Given the description of an element on the screen output the (x, y) to click on. 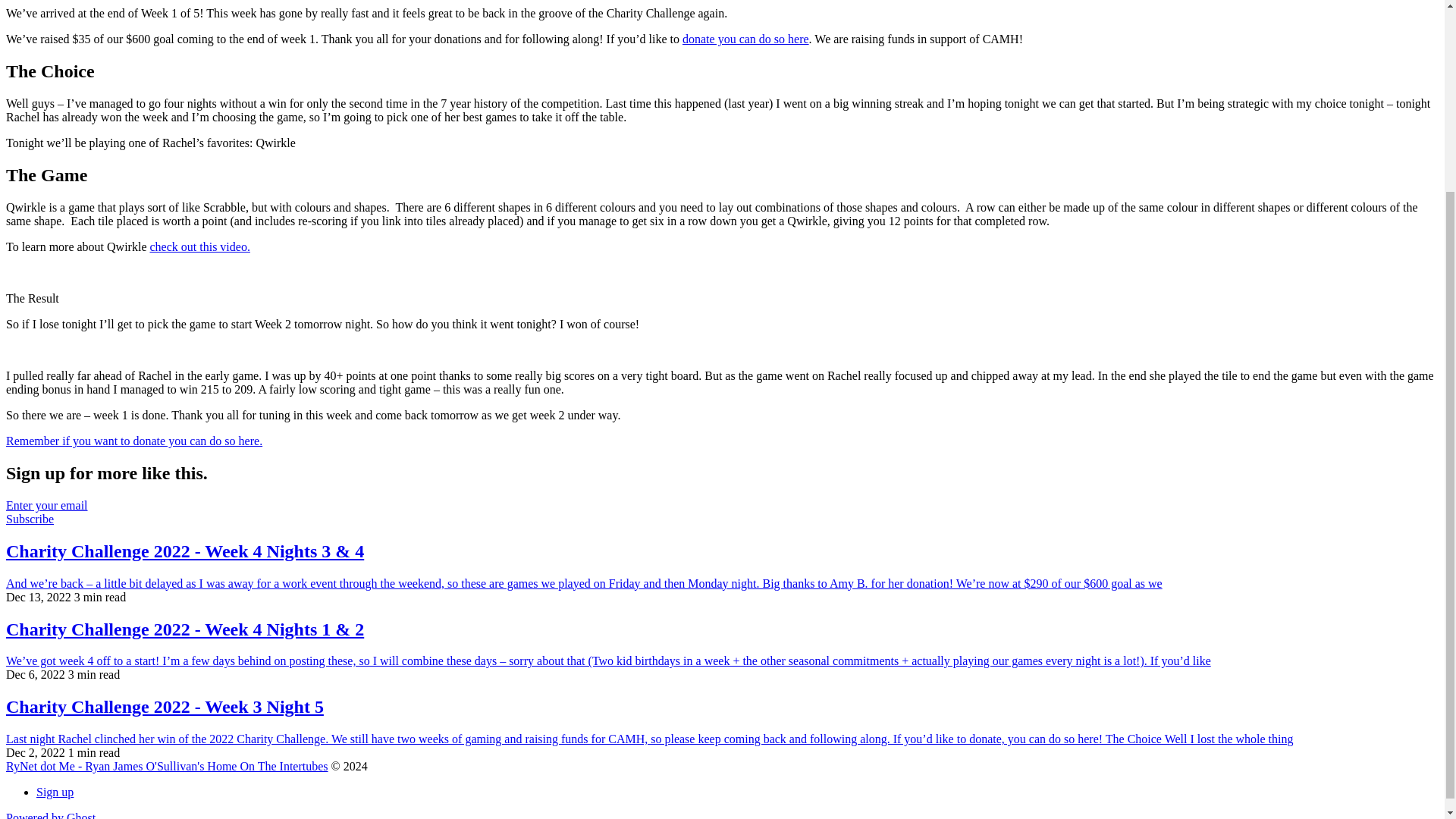
check out this video. (198, 246)
Remember if you want to donate you can do so here. (133, 440)
Sign up (55, 791)
donate you can do so here (745, 38)
